Given the description of an element on the screen output the (x, y) to click on. 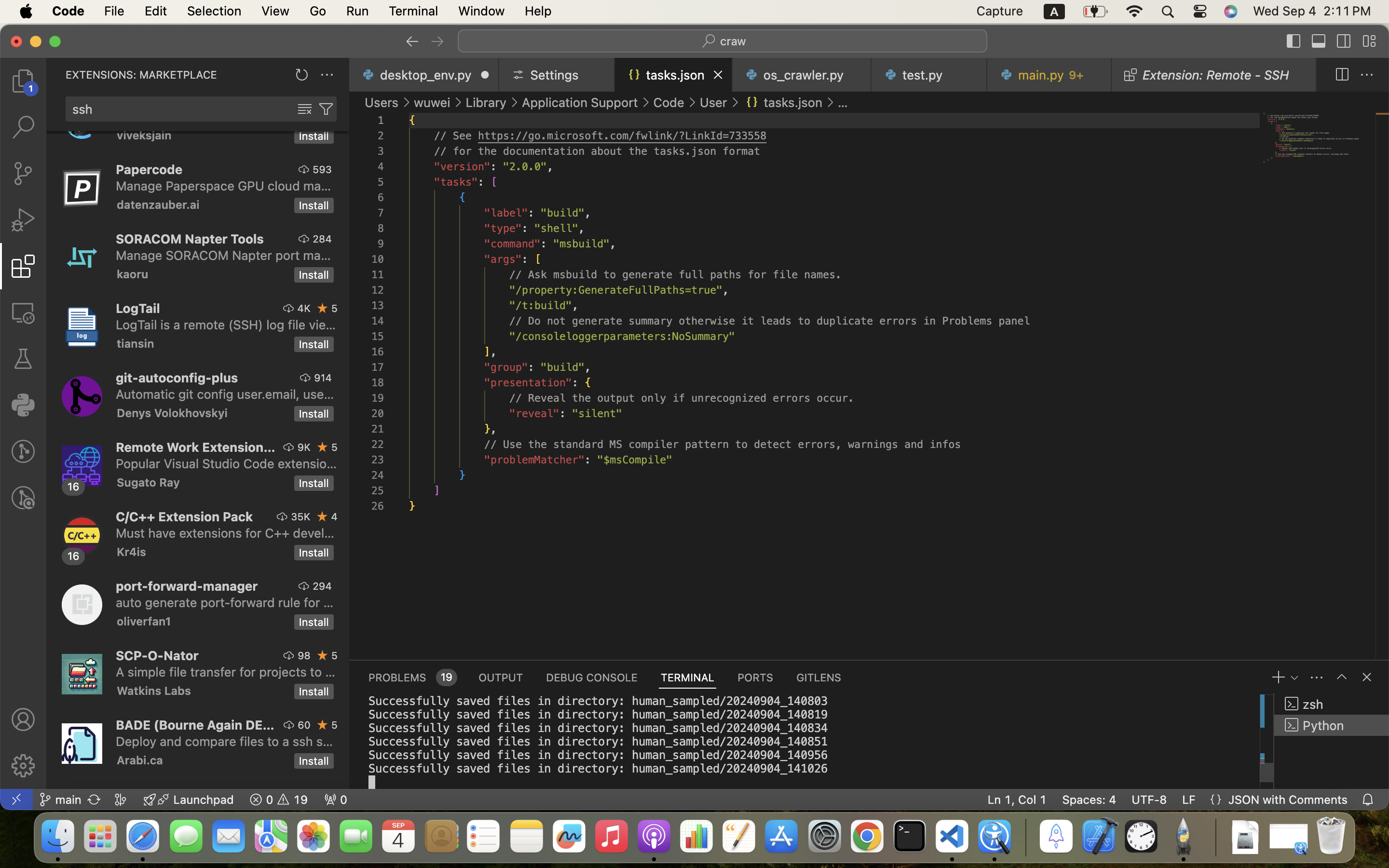
0 Element type: AXRadioButton (23, 404)
4K Element type: AXStaticText (303, 307)
 Element type: AXGroup (23, 497)
auto generate port-forward rule for your vscode ssh connection. Element type: AXStaticText (224, 602)
0 main.py   9+ Element type: AXRadioButton (1049, 74)
